Given the description of an element on the screen output the (x, y) to click on. 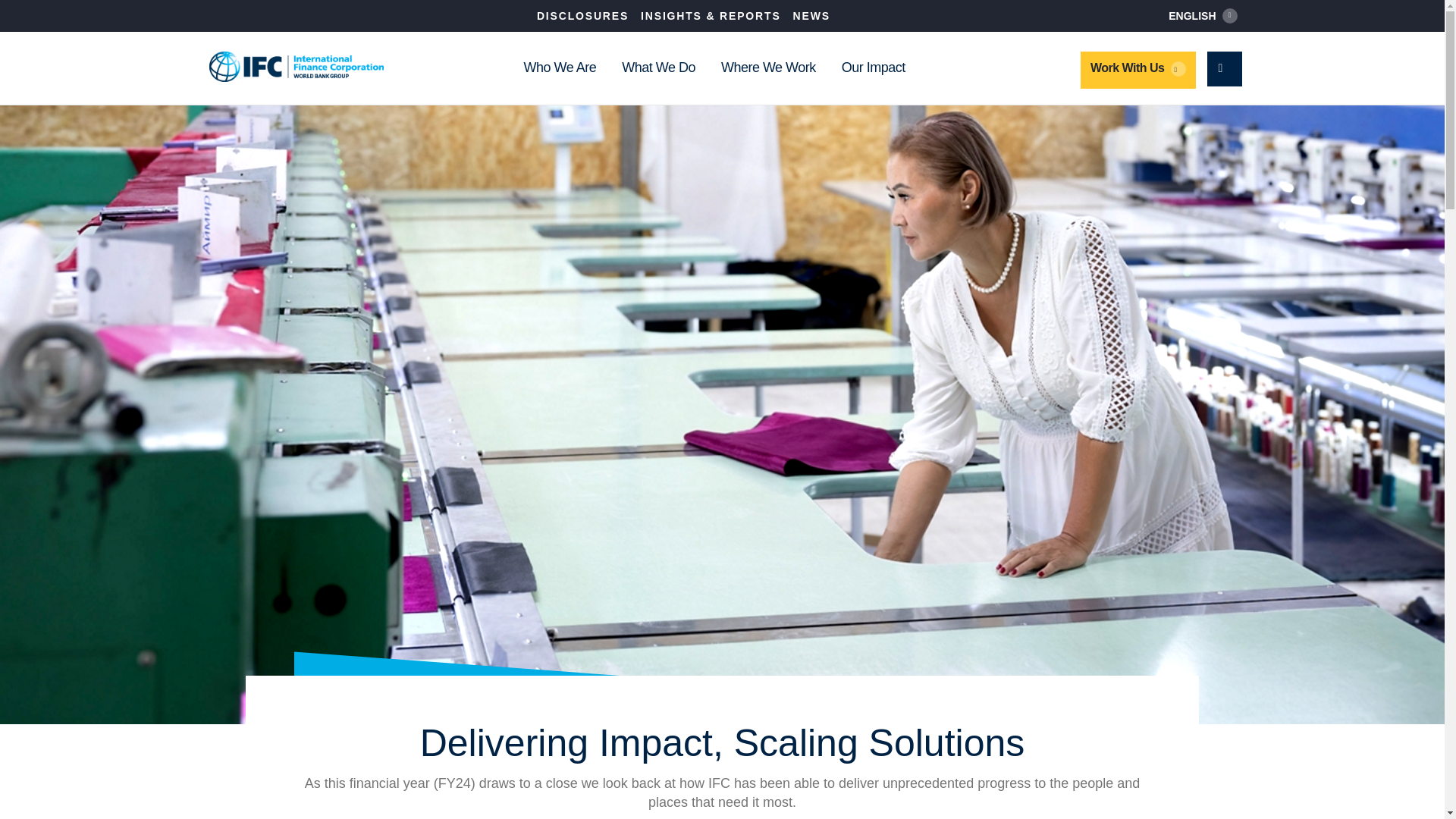
ENGLISH (1202, 15)
Where We Work (767, 68)
IFC logo (296, 66)
What We Do (658, 68)
NEWS (811, 15)
IFC logo (296, 66)
Who We Are (558, 68)
DISCLOSURES (582, 15)
